Given the description of an element on the screen output the (x, y) to click on. 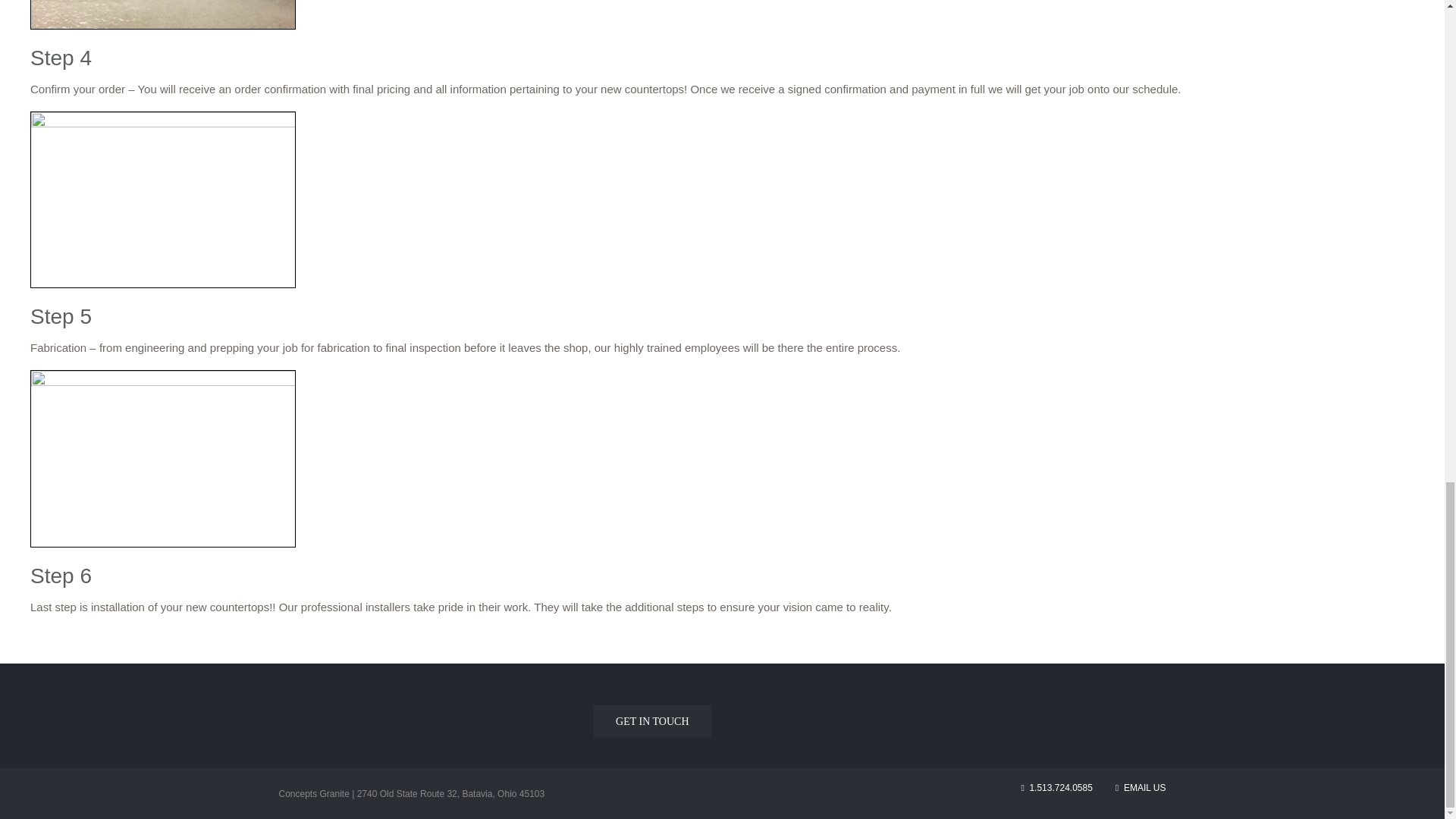
GET IN TOUCH (652, 721)
  EMAIL US (1140, 787)
